Given the description of an element on the screen output the (x, y) to click on. 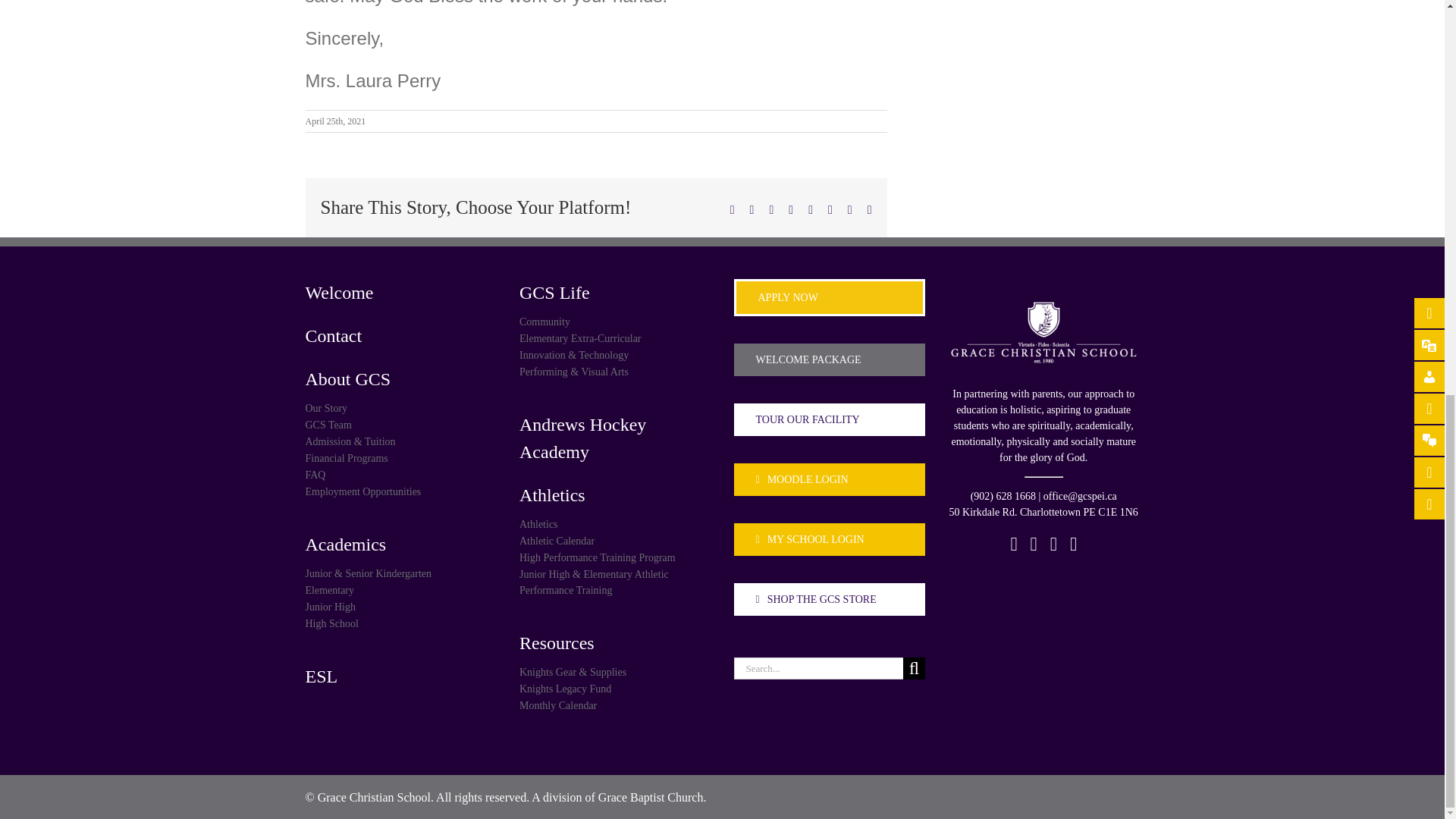
Junior High (400, 606)
ESL (400, 676)
About GCS (400, 379)
GCS Life (615, 292)
GCS Team (400, 424)
Resources (615, 642)
Our Story (400, 408)
Elementary Extra-Curricular (615, 338)
Athletics (615, 523)
Academics (400, 543)
